Given the description of an element on the screen output the (x, y) to click on. 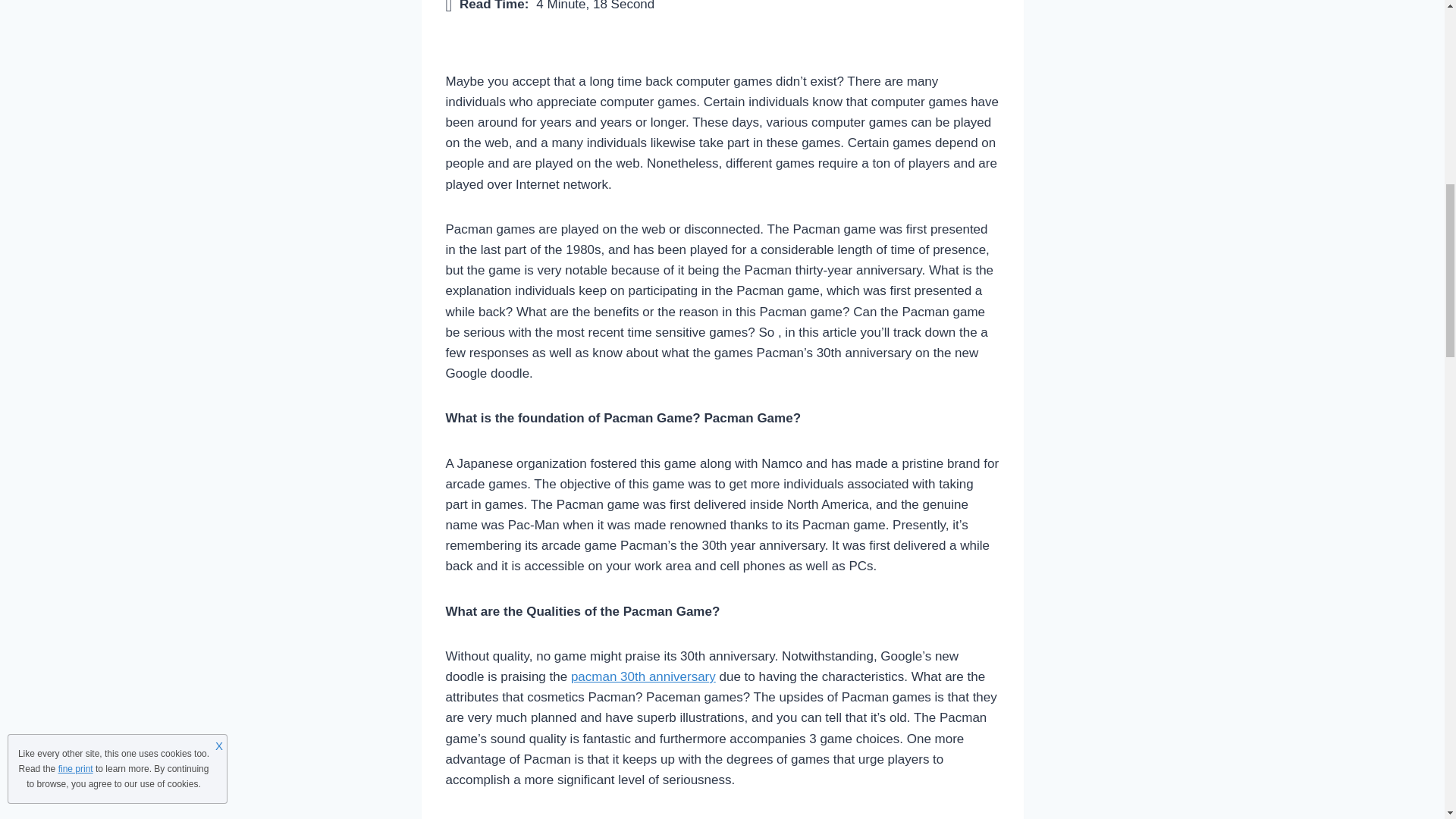
pacman 30th anniversary (643, 676)
